Given the description of an element on the screen output the (x, y) to click on. 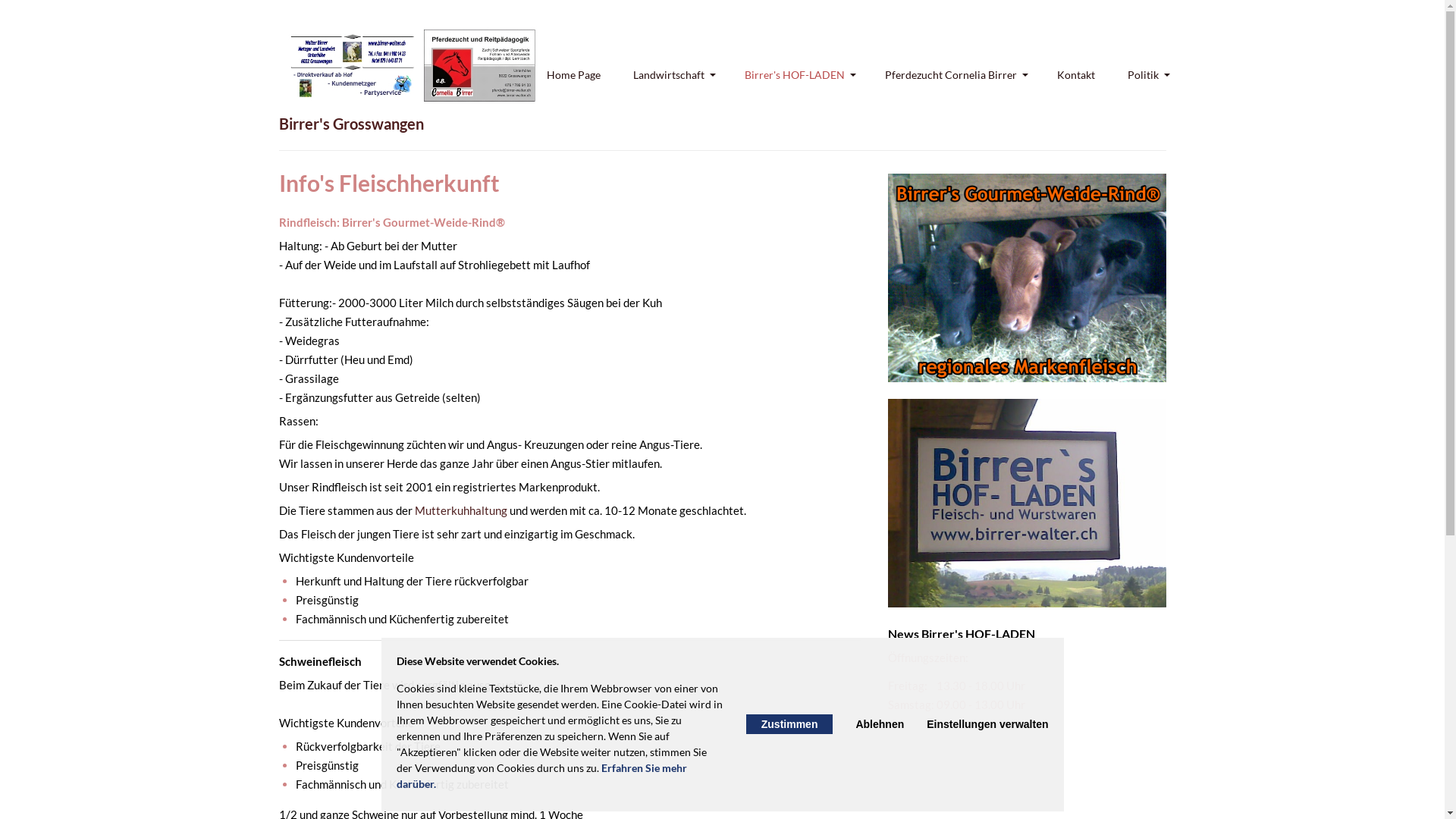
Einstellungen verwalten Element type: text (987, 724)
Ablehnen Element type: text (879, 724)
Birrer's Grosswangen Element type: text (351, 123)
Home Page Element type: text (572, 74)
Zustimmen Element type: text (789, 724)
Kontakt Element type: text (1075, 74)
Mutterkuhhaltung Element type: text (460, 510)
